Given the description of an element on the screen output the (x, y) to click on. 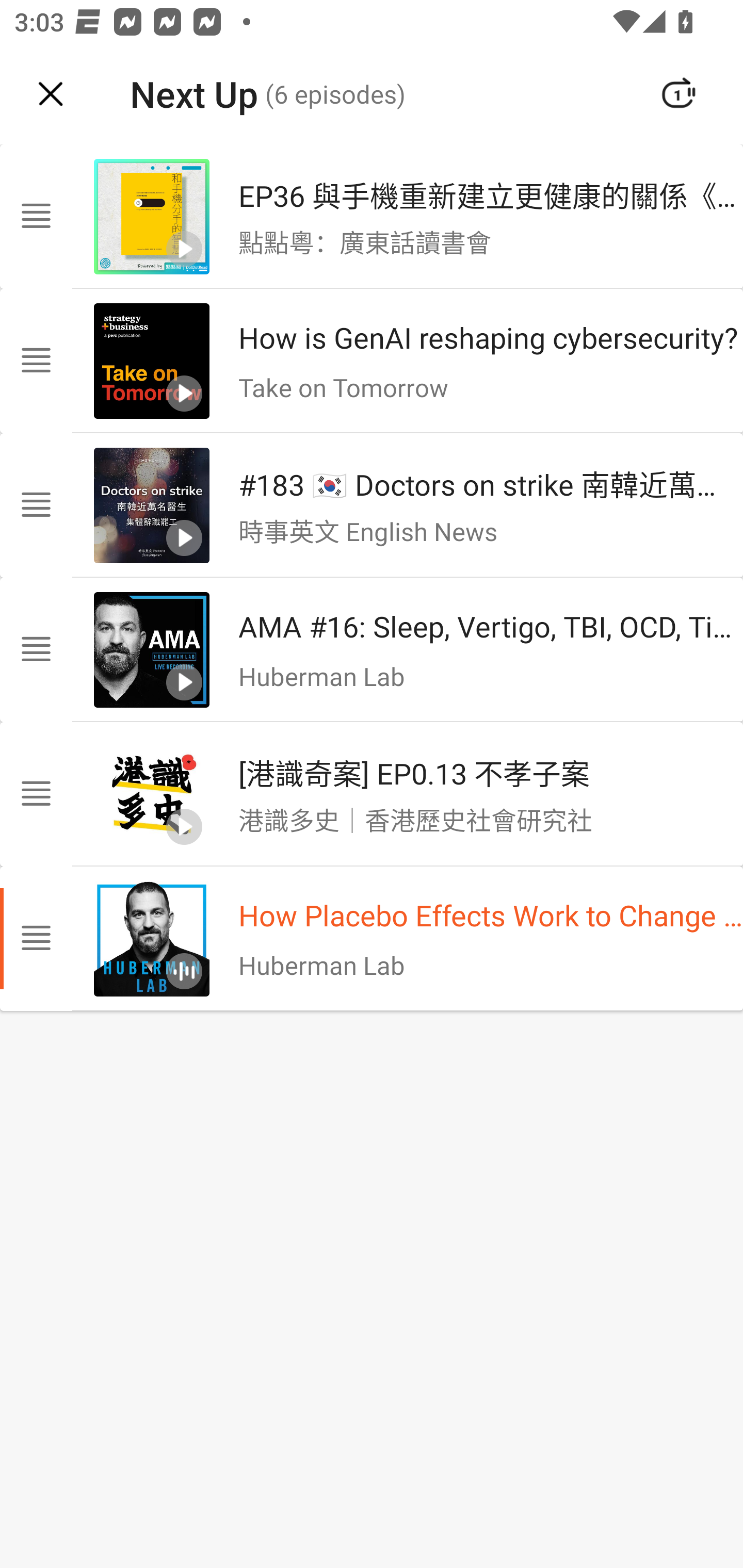
Navigate up (50, 93)
